Given the description of an element on the screen output the (x, y) to click on. 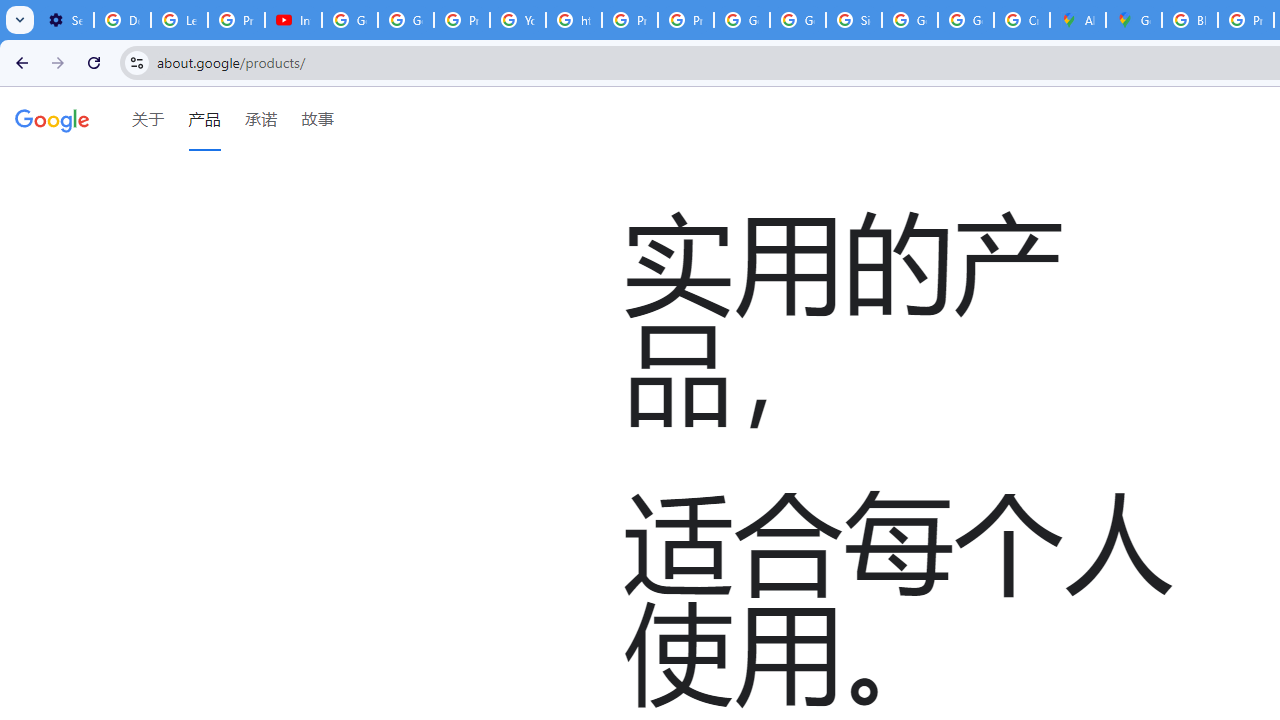
YouTube (518, 20)
Create your Google Account (1021, 20)
